Given the description of an element on the screen output the (x, y) to click on. 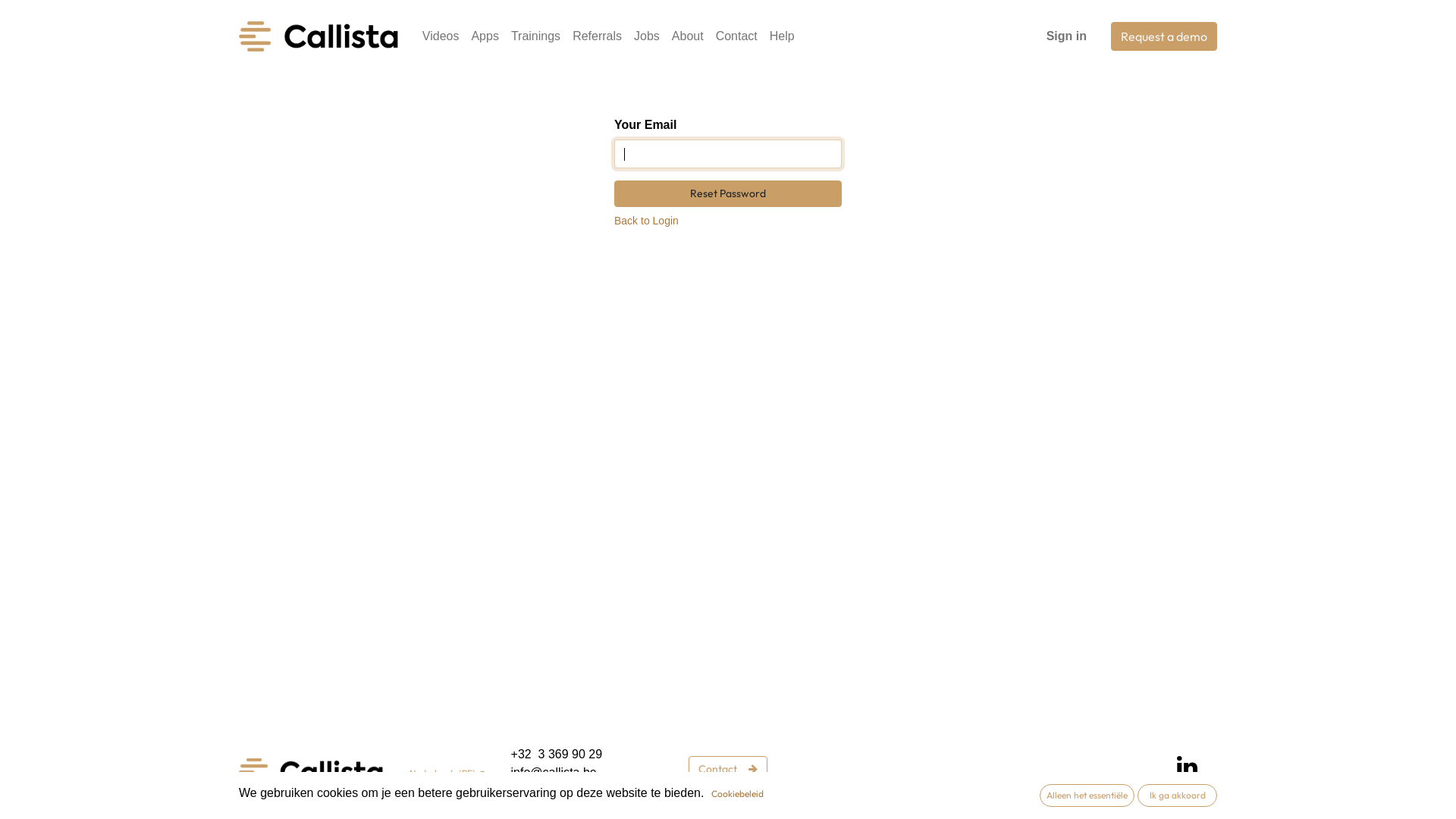
Referrals Element type: text (596, 36)
Help Element type: text (1028, 777)
Sign in Element type: text (1066, 36)
Callista Business Software Element type: hover (318, 36)
Nederlands (BE) Element type: text (446, 773)
   Element type: text (605, 790)
Jobs Element type: text (646, 36)
Request a demo Element type: text (1163, 35)
Ik ga akkoord Element type: text (1177, 795)
Reset Password Element type: text (727, 193)
Cookiebeleid Element type: text (737, 793)
Back to Login Element type: text (646, 221)
Contact Element type: text (736, 36)
Videos Element type: text (440, 36)
Referrals Element type: text (859, 777)
Help Element type: text (781, 36)
MijnBedrijf Element type: hover (310, 771)
Trainings Element type: text (535, 36)
Jobs Element type: text (984, 777)
  About us  Element type: text (926, 777)
Contact     Element type: text (727, 769)
About Element type: text (687, 36)
Apps Element type: text (484, 36)
